Given the description of an element on the screen output the (x, y) to click on. 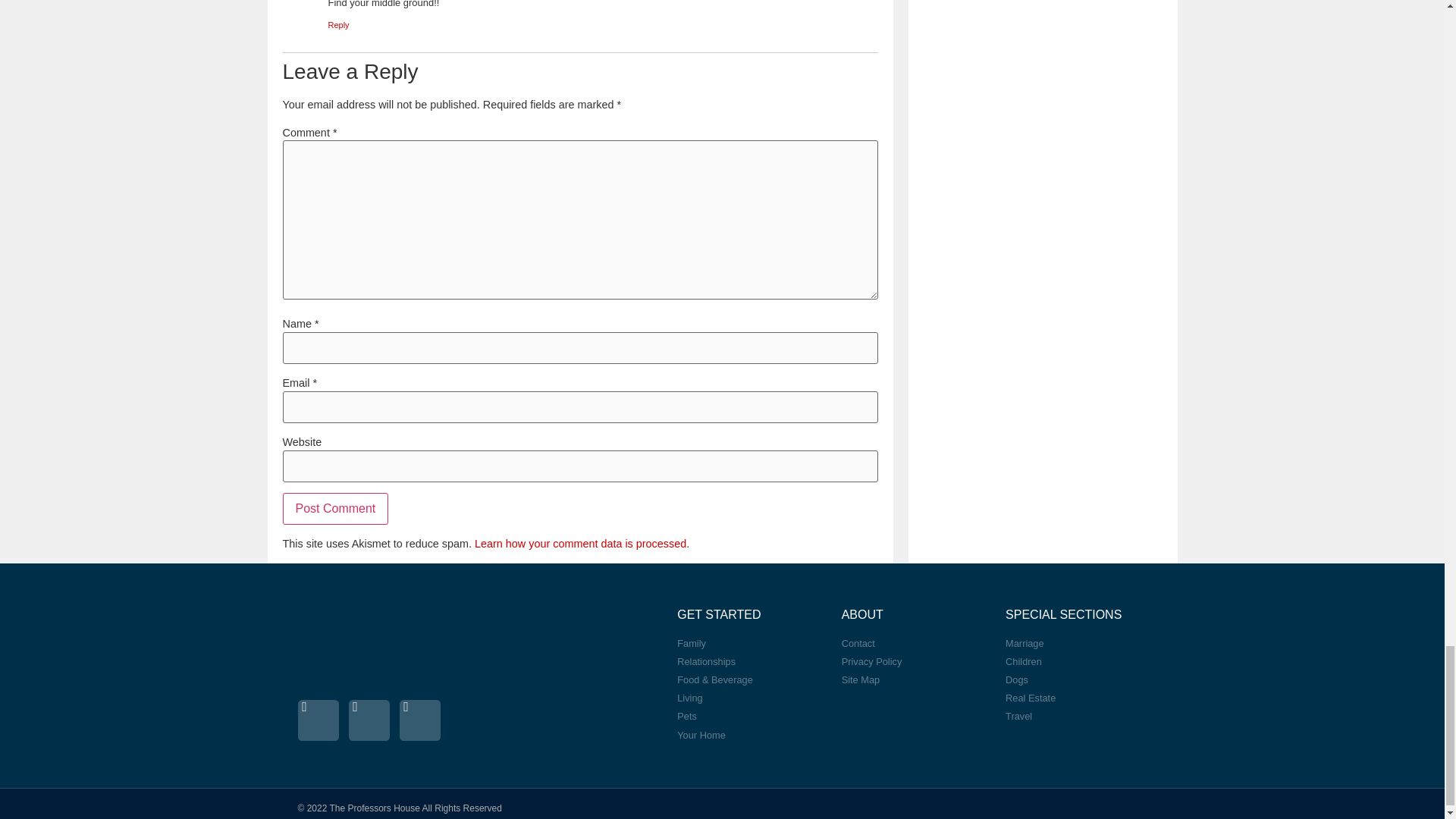
Post Comment (335, 508)
